Given the description of an element on the screen output the (x, y) to click on. 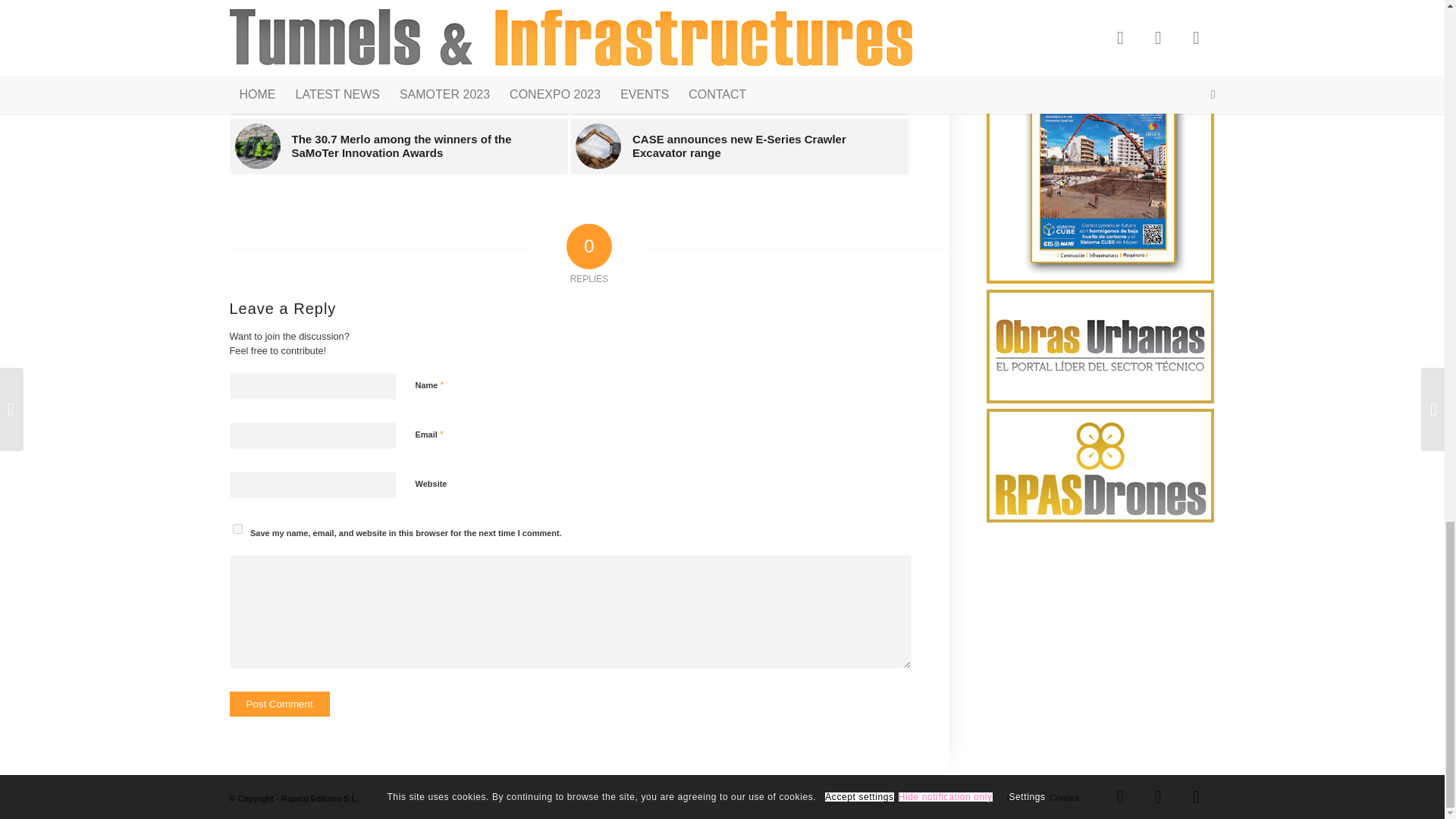
yes (236, 528)
1 (423, 560)
Post Comment (278, 703)
